Given the description of an element on the screen output the (x, y) to click on. 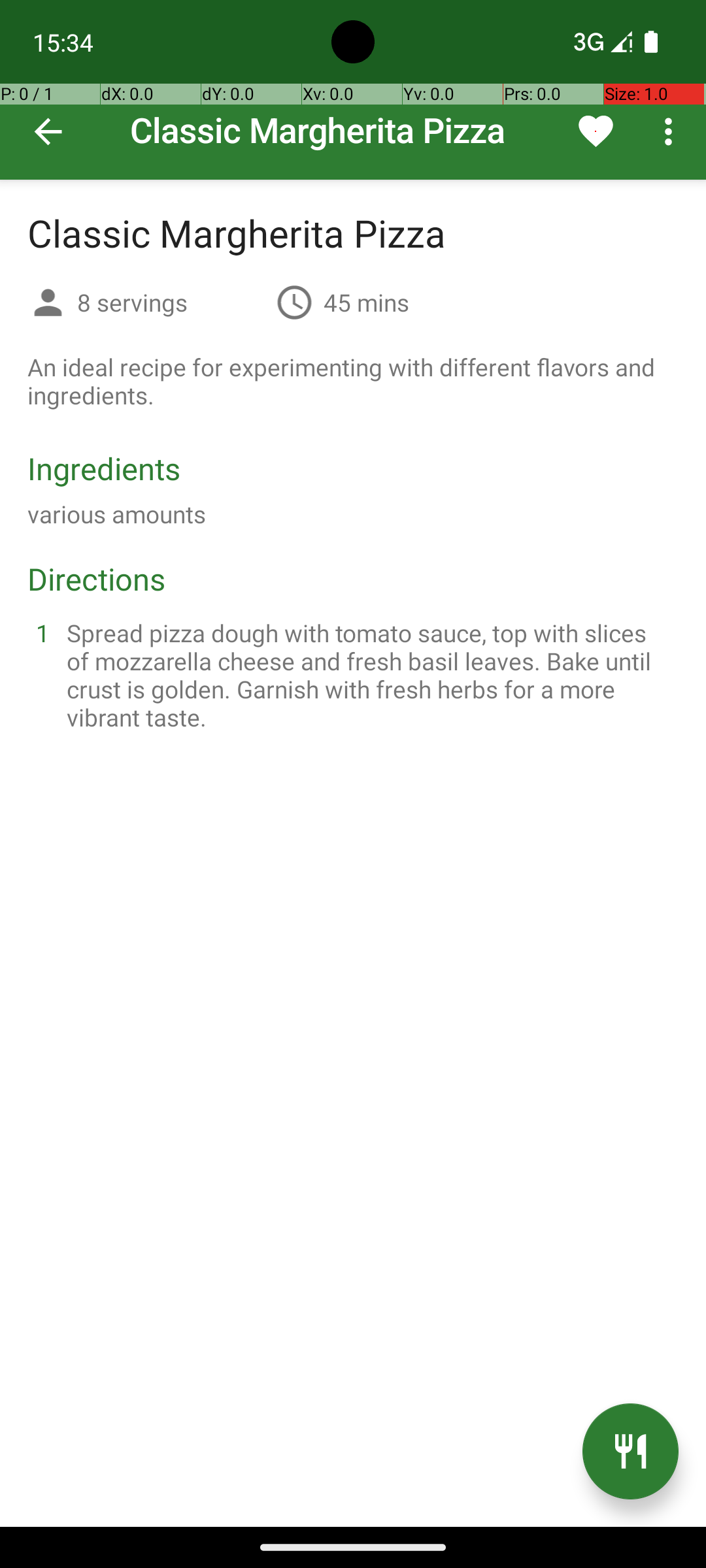
Spread pizza dough with tomato sauce, top with slices of mozzarella cheese and fresh basil leaves. Bake until crust is golden. Garnish with fresh herbs for a more vibrant taste. Element type: android.widget.TextView (368, 674)
